Given the description of an element on the screen output the (x, y) to click on. 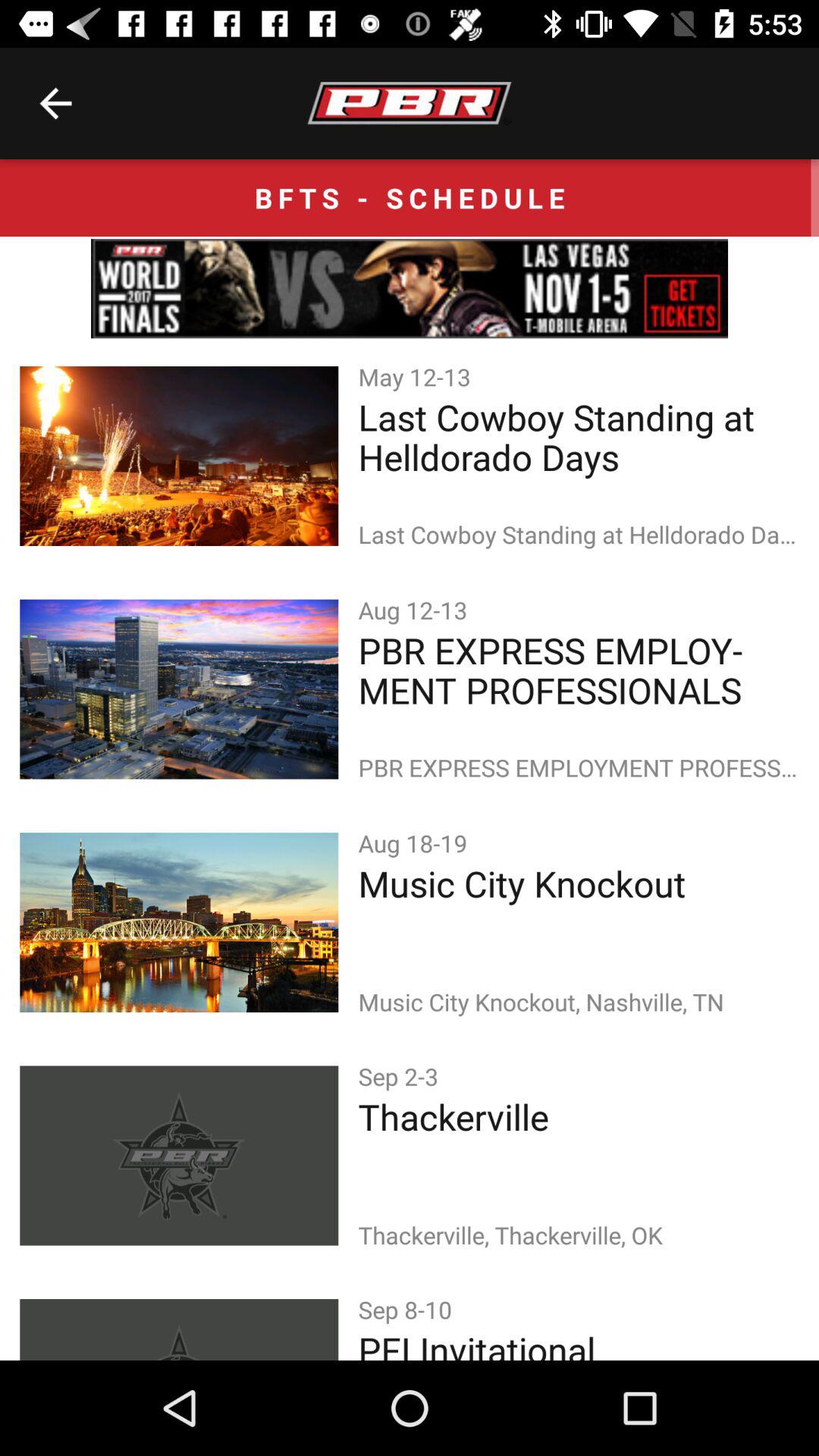
advertisement (409, 288)
